Given the description of an element on the screen output the (x, y) to click on. 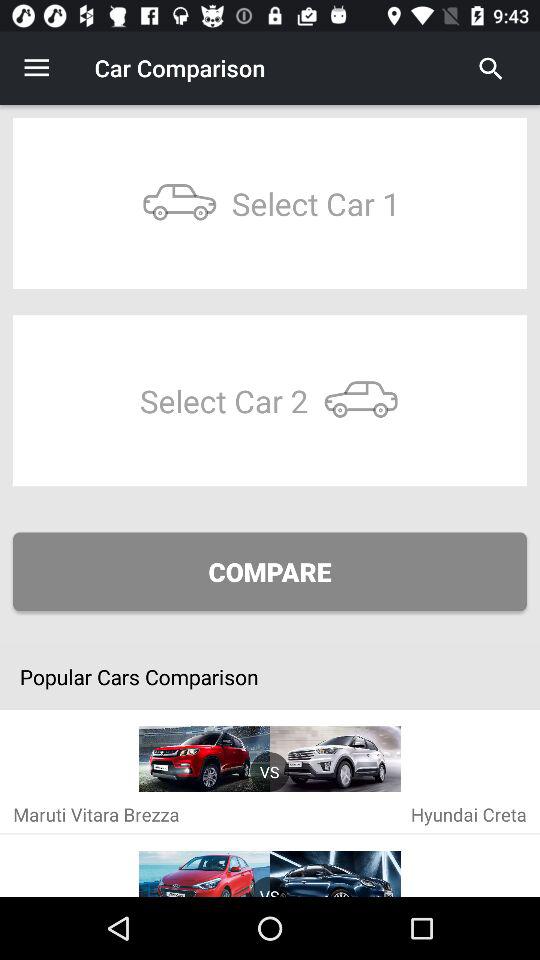
turn off the icon to the right of car comparison (491, 68)
